Given the description of an element on the screen output the (x, y) to click on. 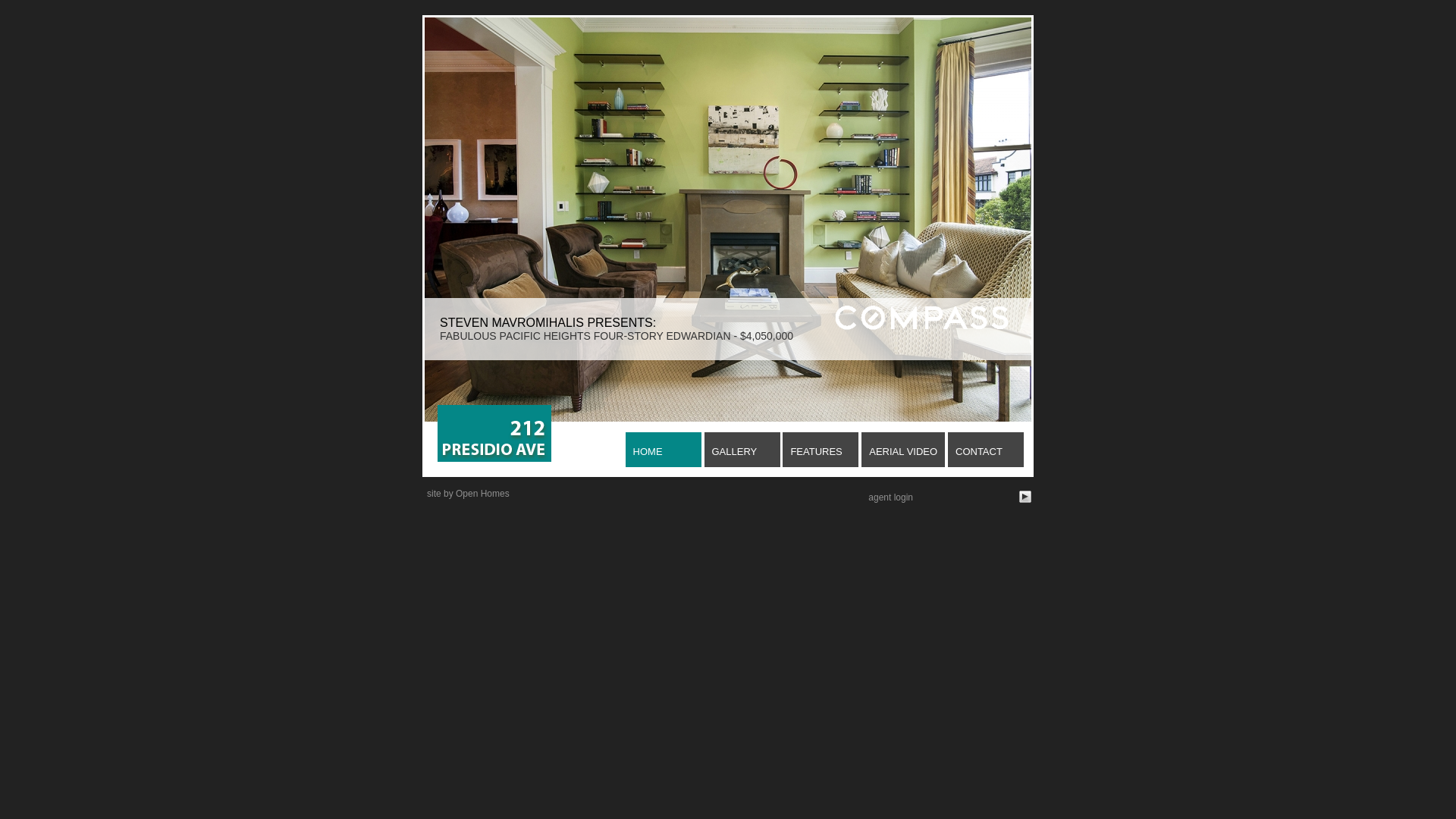
agent login Element type: text (890, 497)
HOME Element type: text (663, 449)
play Element type: text (1025, 496)
FEATURES Element type: text (820, 449)
AERIAL VIDEO Element type: text (902, 449)
CONTACT Element type: text (985, 449)
site by Open Homes Element type: text (467, 493)
GALLERY Element type: text (741, 449)
